Given the description of an element on the screen output the (x, y) to click on. 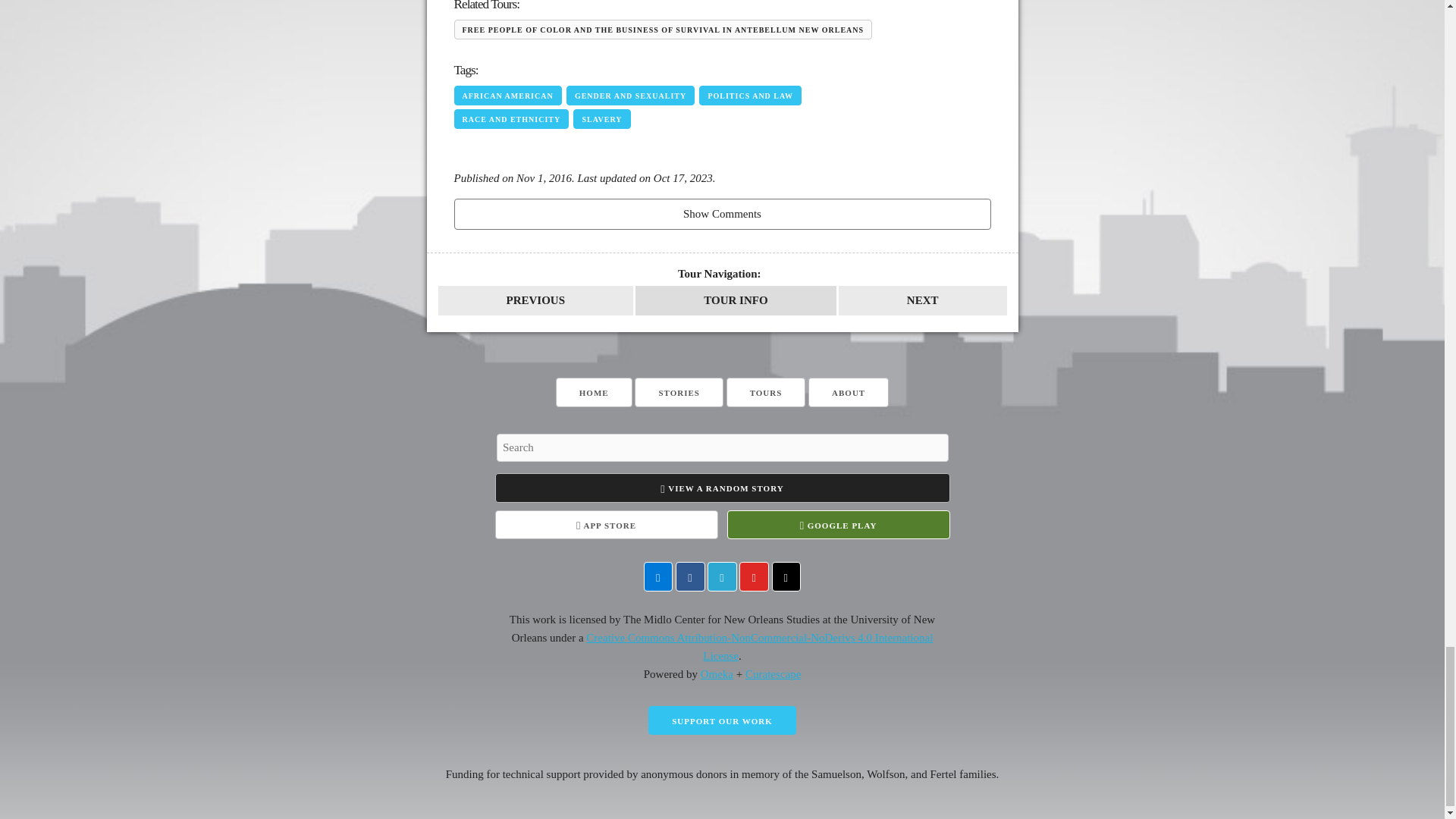
STORIES (678, 392)
VIEW A RANDOM STORY (722, 487)
RACE AND ETHNICITY (510, 118)
Show Comments (721, 214)
PREVIOUS (535, 300)
TOURS (766, 392)
GENDER AND SEXUALITY (630, 95)
ABOUT (848, 392)
SLAVERY (601, 118)
AFRICAN AMERICAN (506, 95)
NEXT (922, 300)
HOME (593, 392)
Click to load the comments section (721, 214)
TOUR INFO (734, 300)
